Given the description of an element on the screen output the (x, y) to click on. 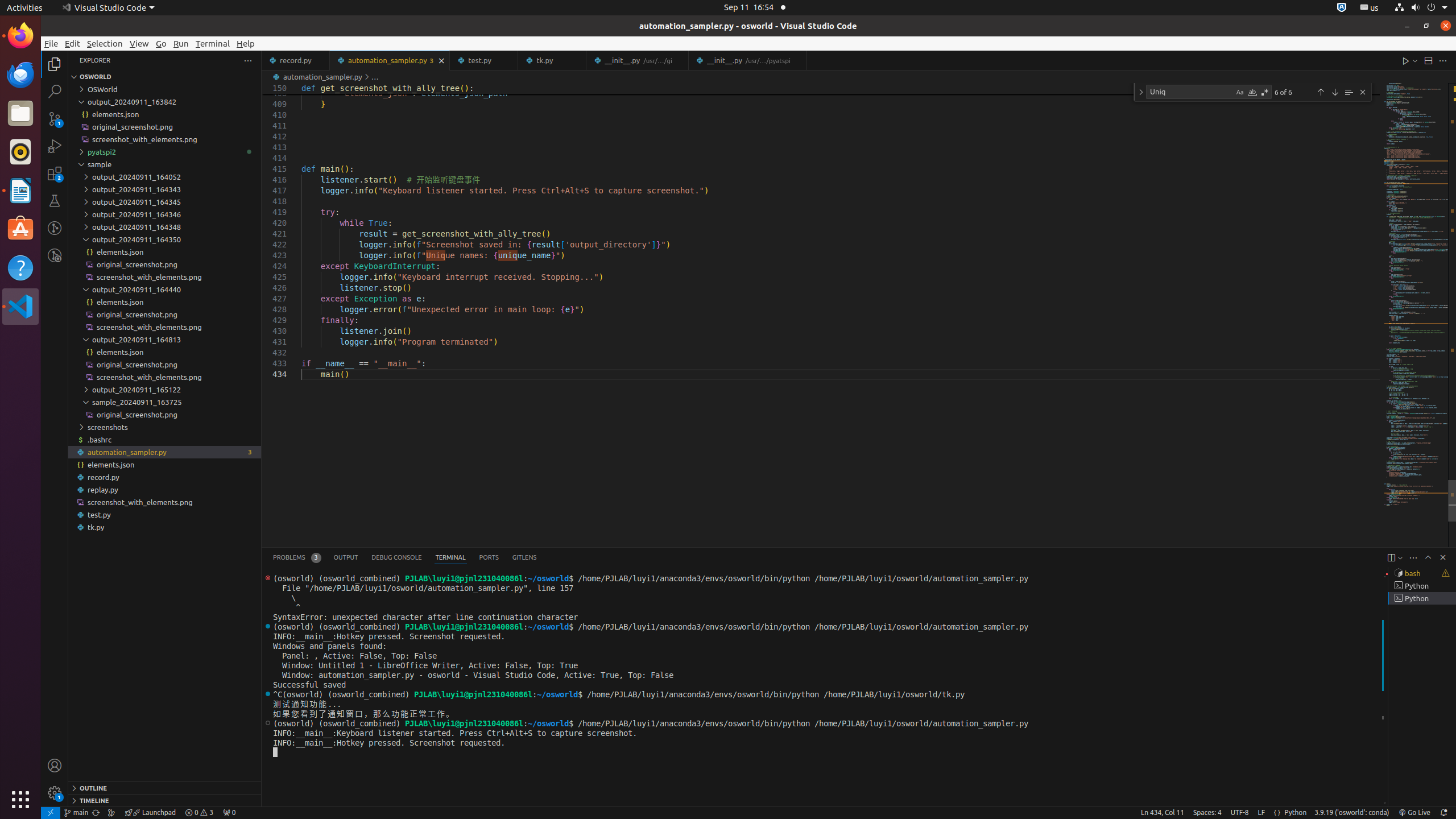
Testing Element type: page-tab (54, 200)
pyatspi2 Element type: tree-item (164, 151)
Maximize Panel Size Element type: check-box (1427, 557)
output_20240911_164813 Element type: tree-item (164, 339)
